Given the description of an element on the screen output the (x, y) to click on. 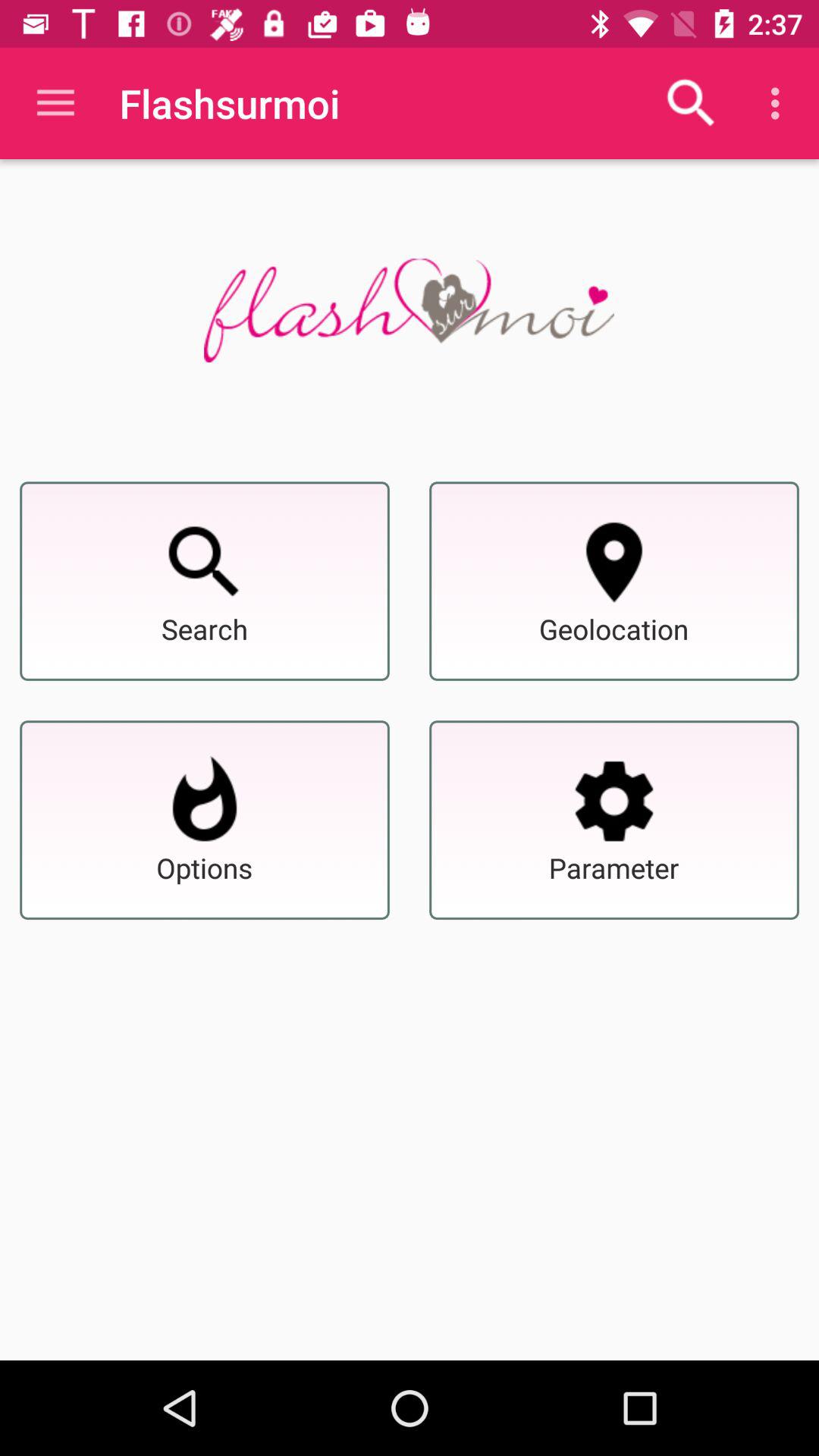
select options (204, 801)
select flashmoi (408, 310)
select the icon which is just below the time (779, 103)
